Given the description of an element on the screen output the (x, y) to click on. 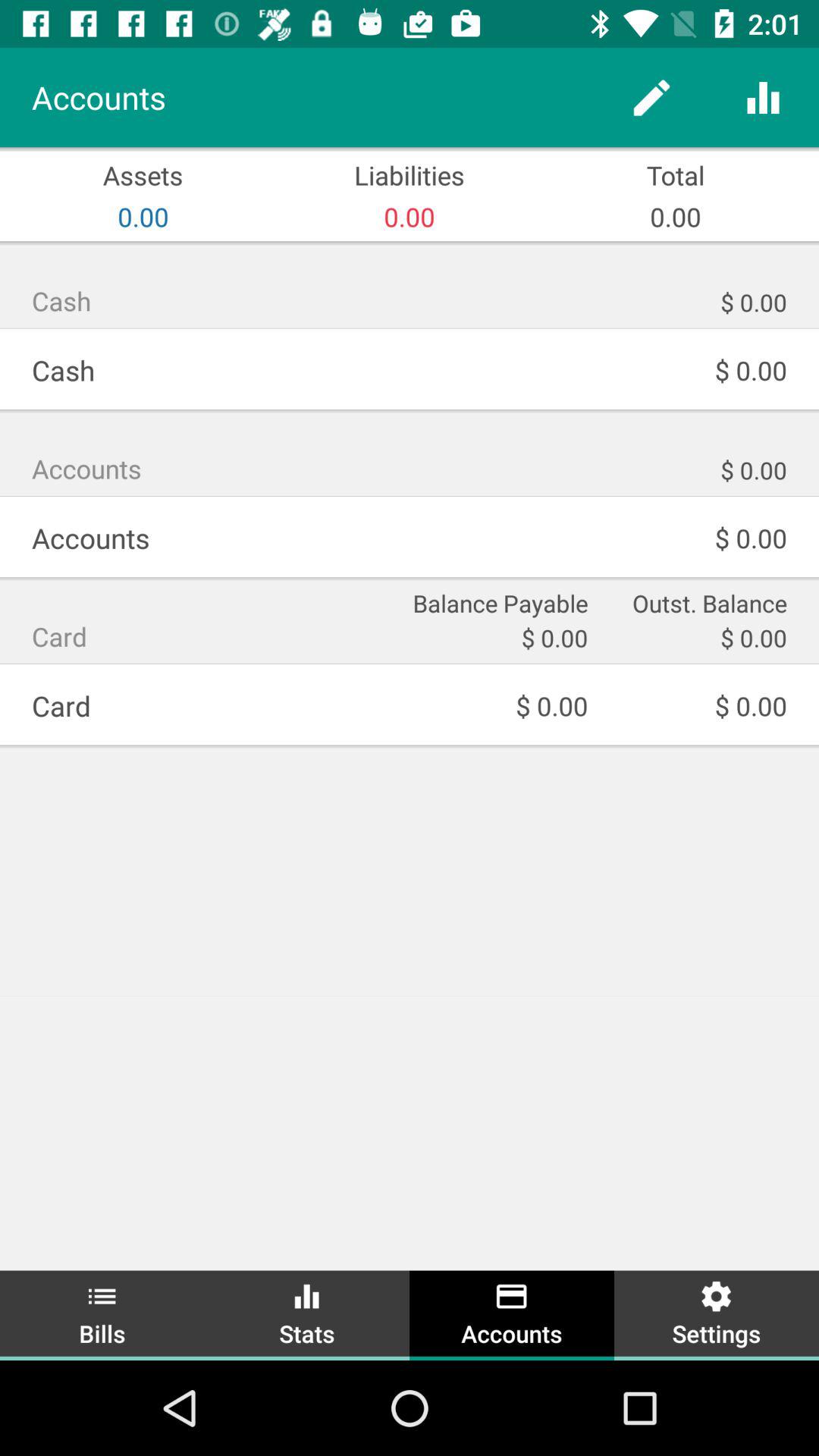
scroll to the stats icon (306, 1313)
